Given the description of an element on the screen output the (x, y) to click on. 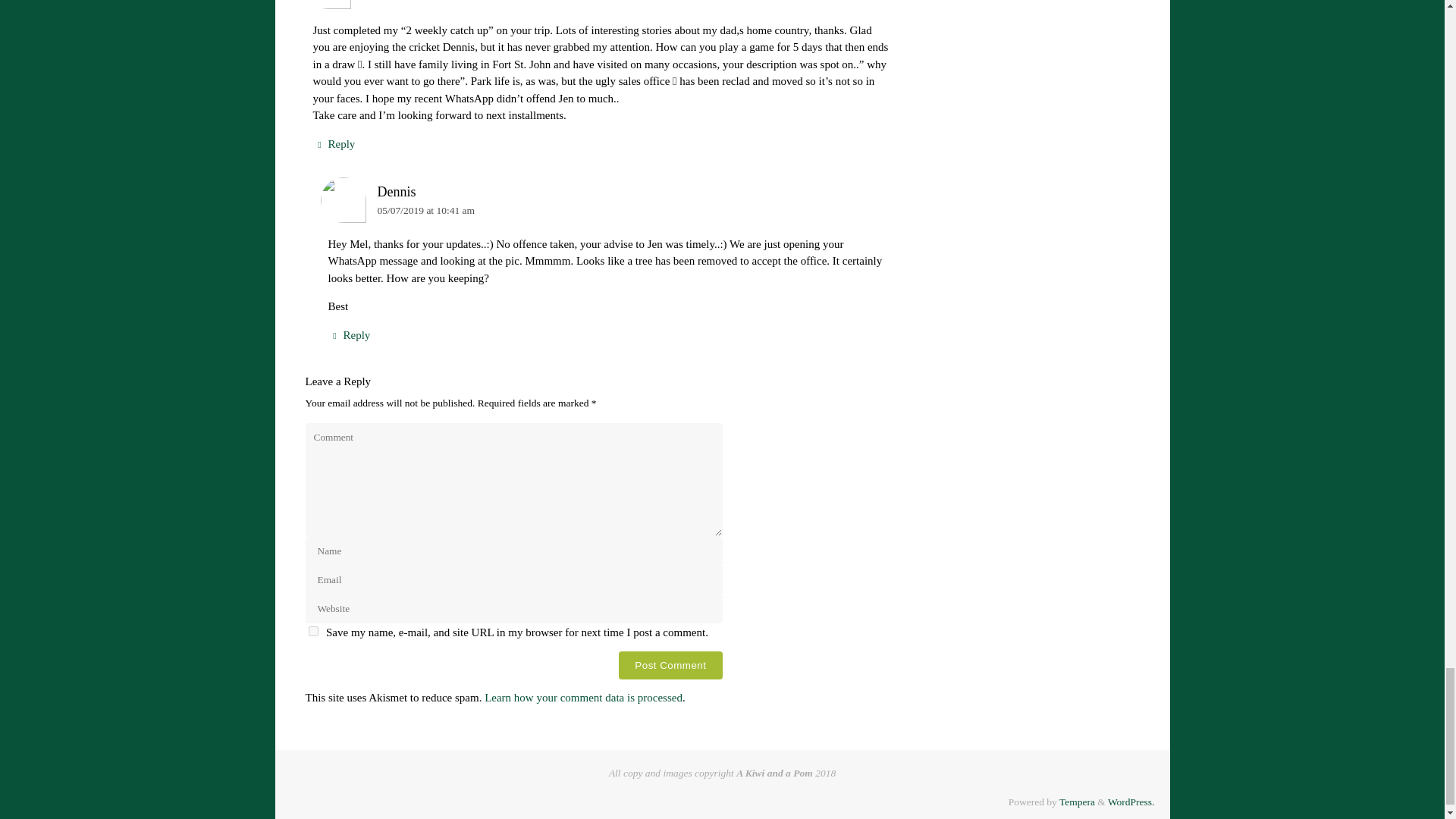
Post Comment (670, 665)
Semantic Personal Publishing Platform (1131, 801)
Tempera Theme by Cryout Creations (1076, 801)
yes (312, 631)
